Given the description of an element on the screen output the (x, y) to click on. 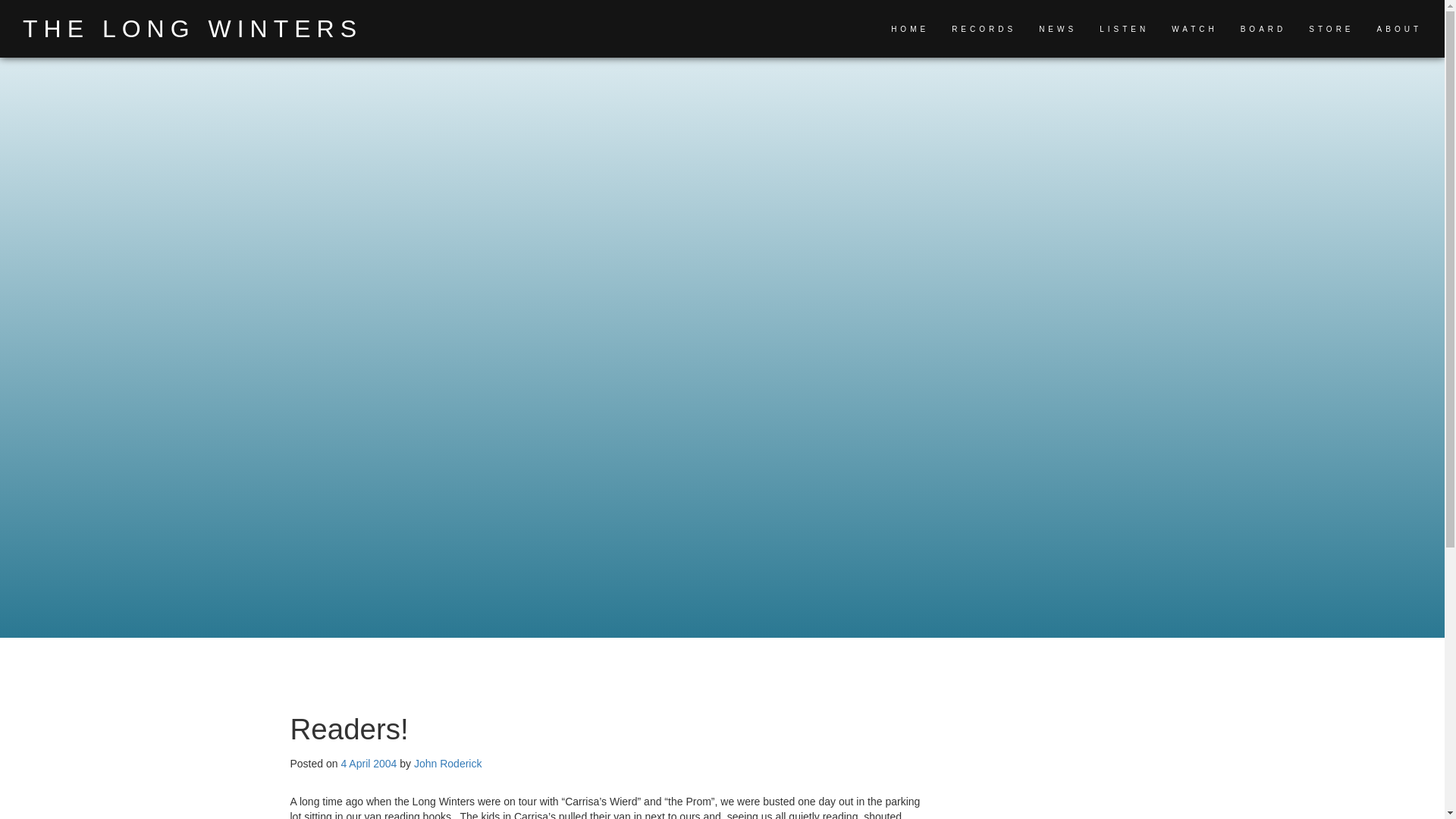
ABOUT (1399, 29)
HOME (909, 29)
THE LONG WINTERS (192, 28)
RECORDS (984, 29)
4 April 2004 (368, 763)
WATCH (1194, 29)
John Roderick (447, 763)
NEWS (1058, 29)
BOARD (1263, 29)
STORE (1331, 29)
LISTEN (1123, 29)
